Given the description of an element on the screen output the (x, y) to click on. 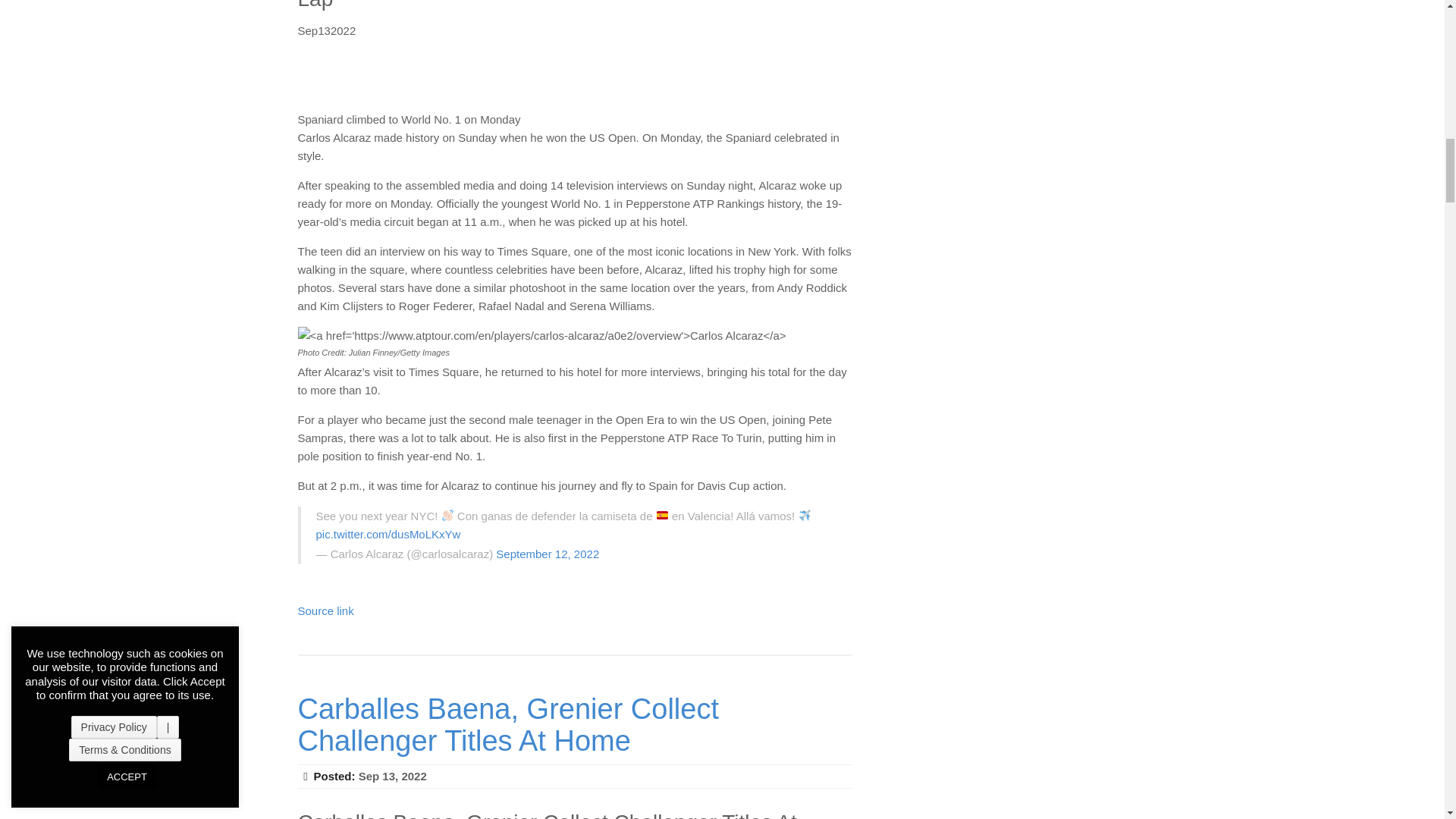
September 12, 2022 (547, 553)
Carballes Baena, Grenier Collect Challenger Titles At Home (508, 724)
Source link (325, 610)
